Given the description of an element on the screen output the (x, y) to click on. 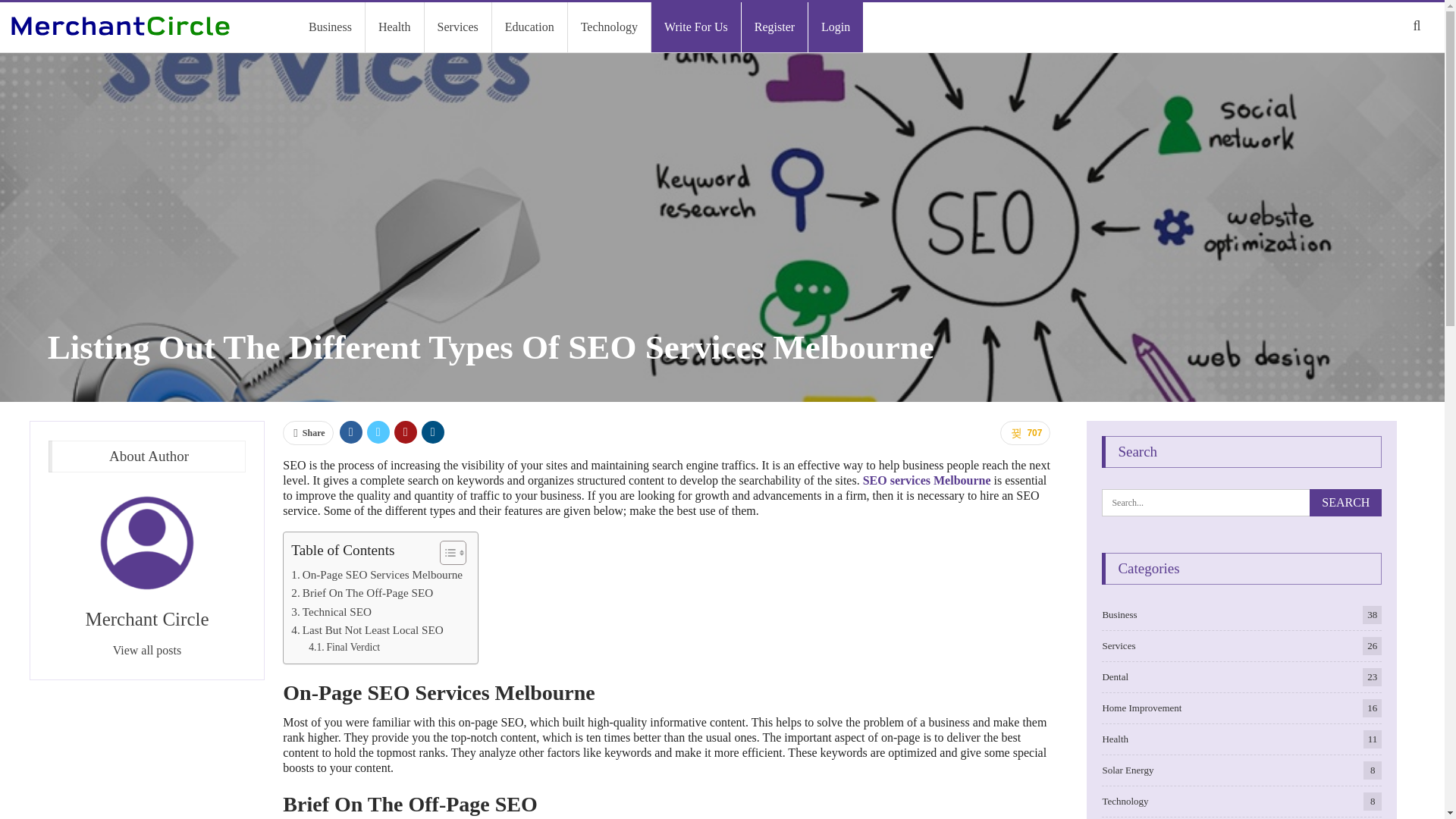
SEO services Melbourne (927, 480)
Search (13, 14)
Education (529, 27)
Technology (609, 27)
Business (329, 27)
Last But Not Least Local SEO (366, 629)
Technical SEO (331, 611)
Final Verdict (344, 647)
Education (529, 27)
On-Page SEO Services Melbourne (377, 574)
